Given the description of an element on the screen output the (x, y) to click on. 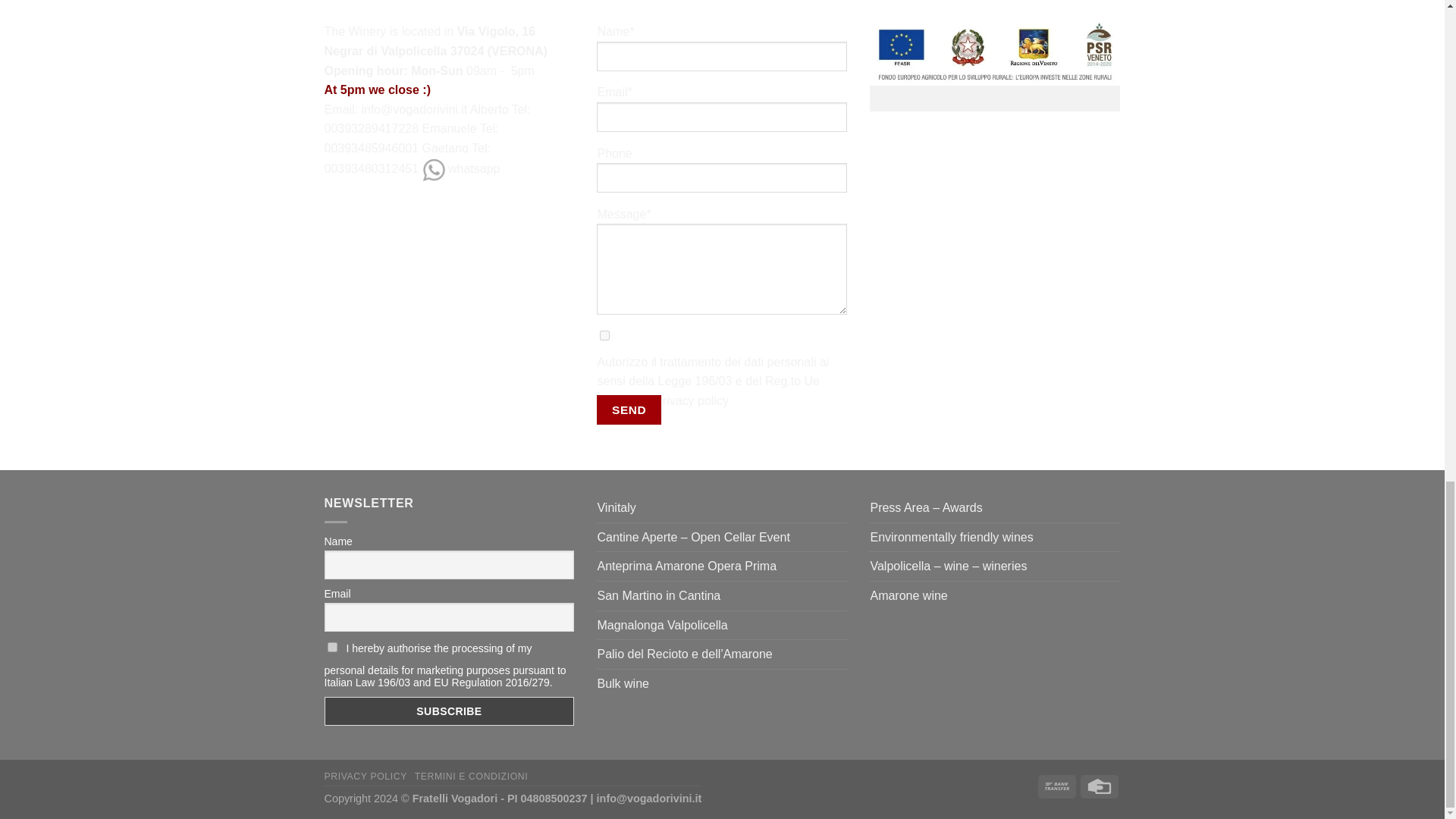
1 (604, 335)
on (332, 646)
Subscribe (449, 710)
Send (628, 409)
